Given the description of an element on the screen output the (x, y) to click on. 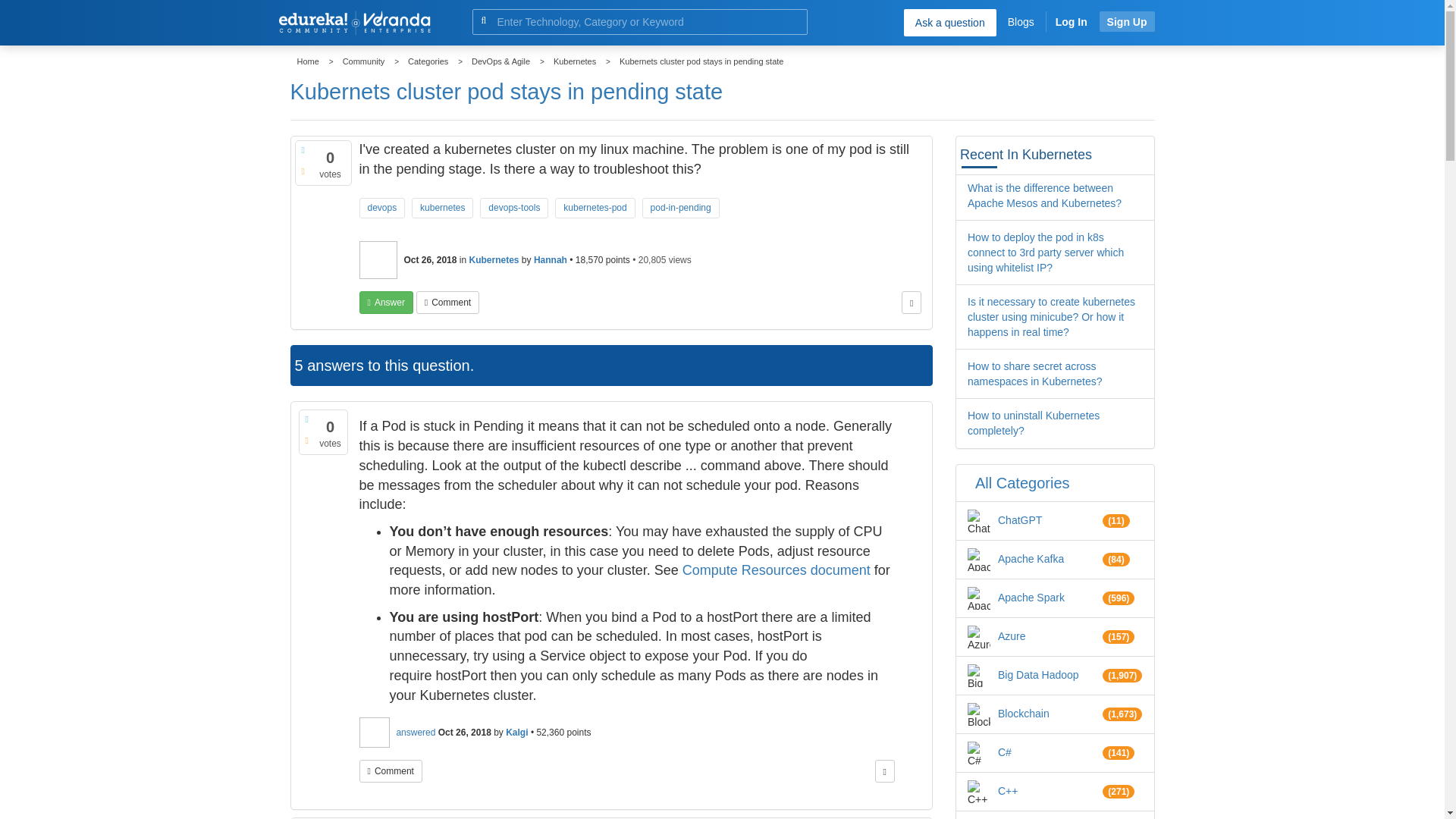
Answer this question (386, 302)
Ask a question (949, 22)
Blogs (1020, 21)
Add a comment on this answer (390, 771)
Add a comment on this question (447, 302)
